Given the description of an element on the screen output the (x, y) to click on. 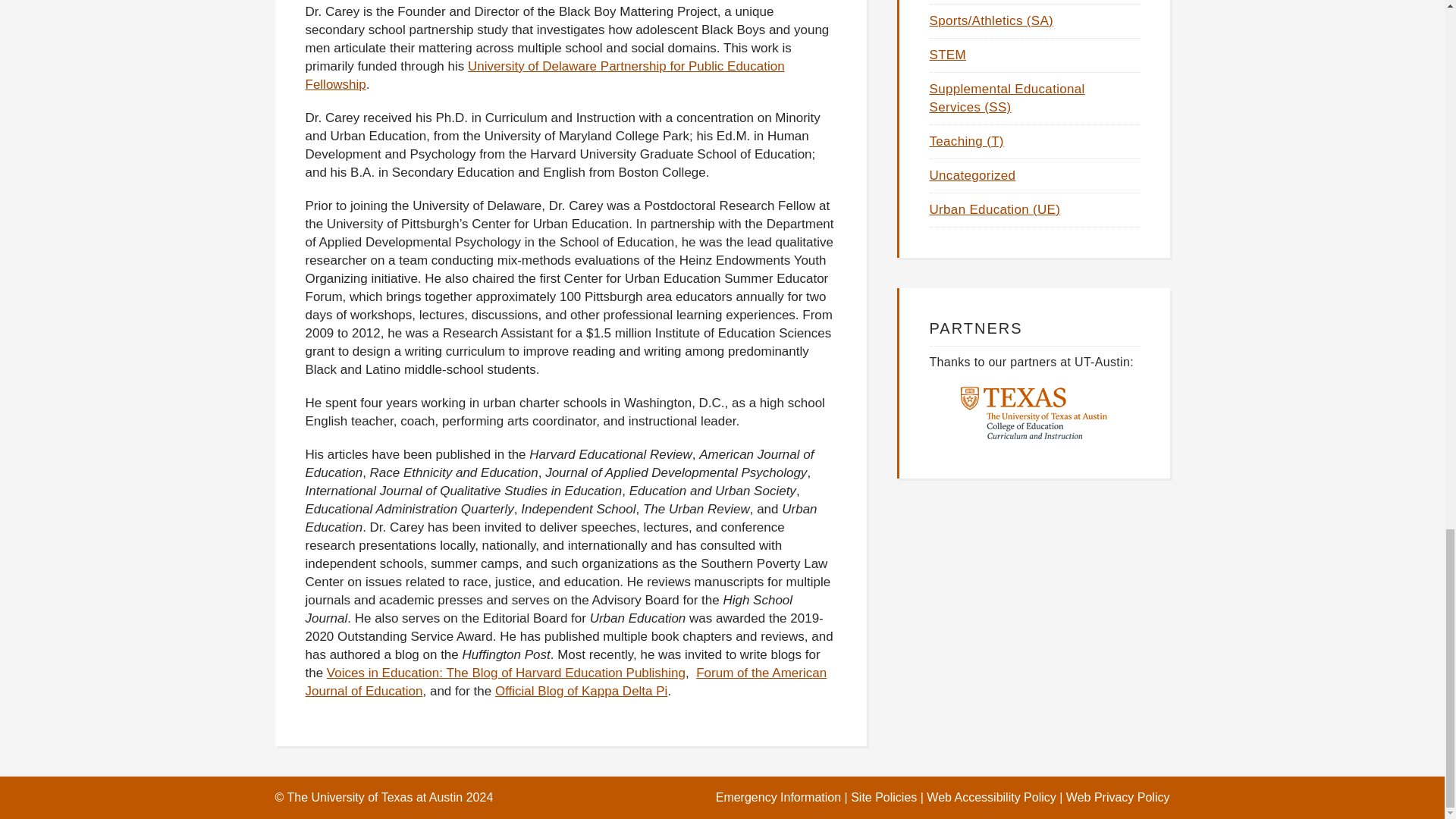
Official Blog of Kappa Delta Pi (580, 690)
Forum of the American Journal of Education (565, 681)
